Given the description of an element on the screen output the (x, y) to click on. 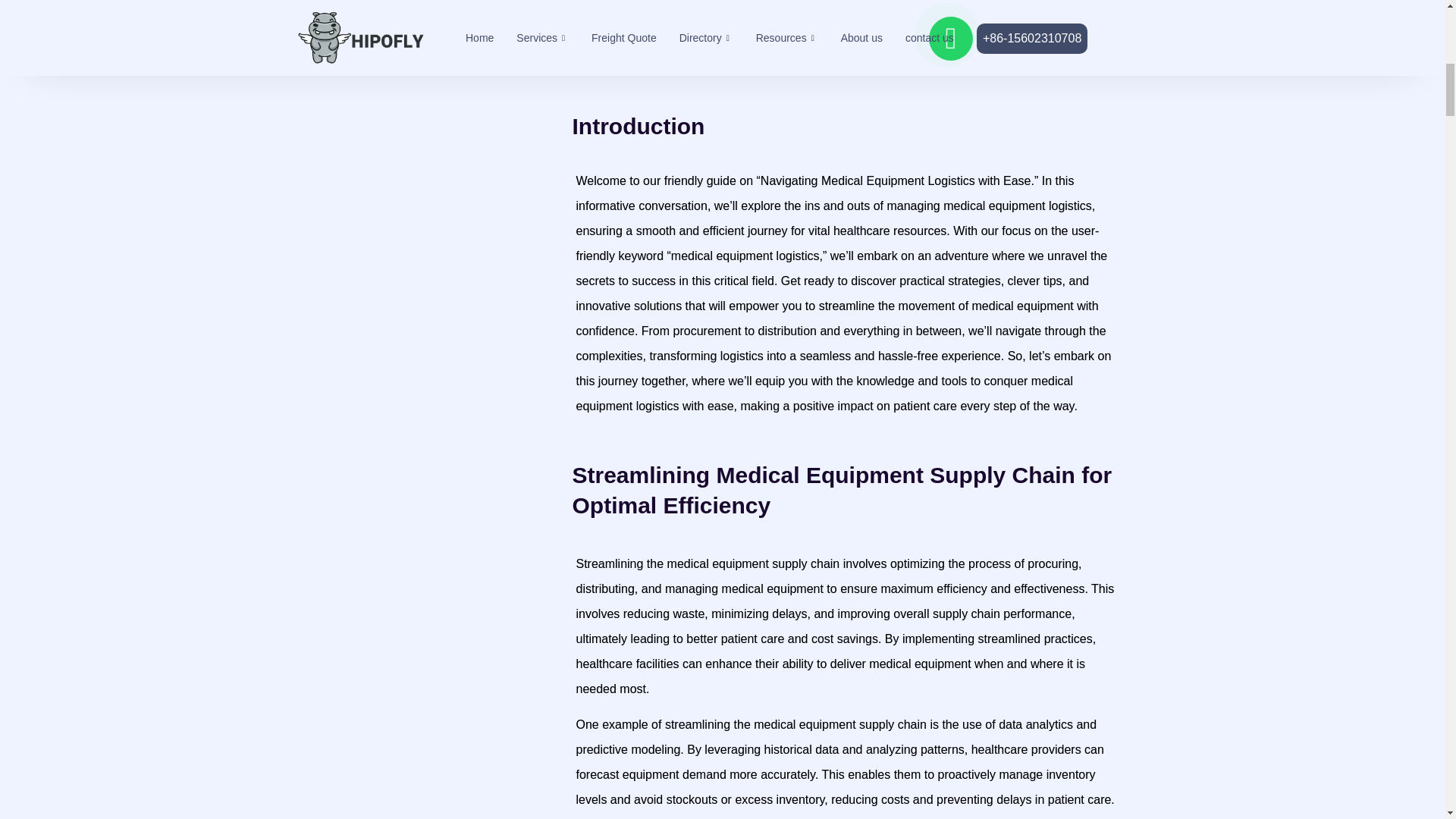
Submit (419, 20)
